Given the description of an element on the screen output the (x, y) to click on. 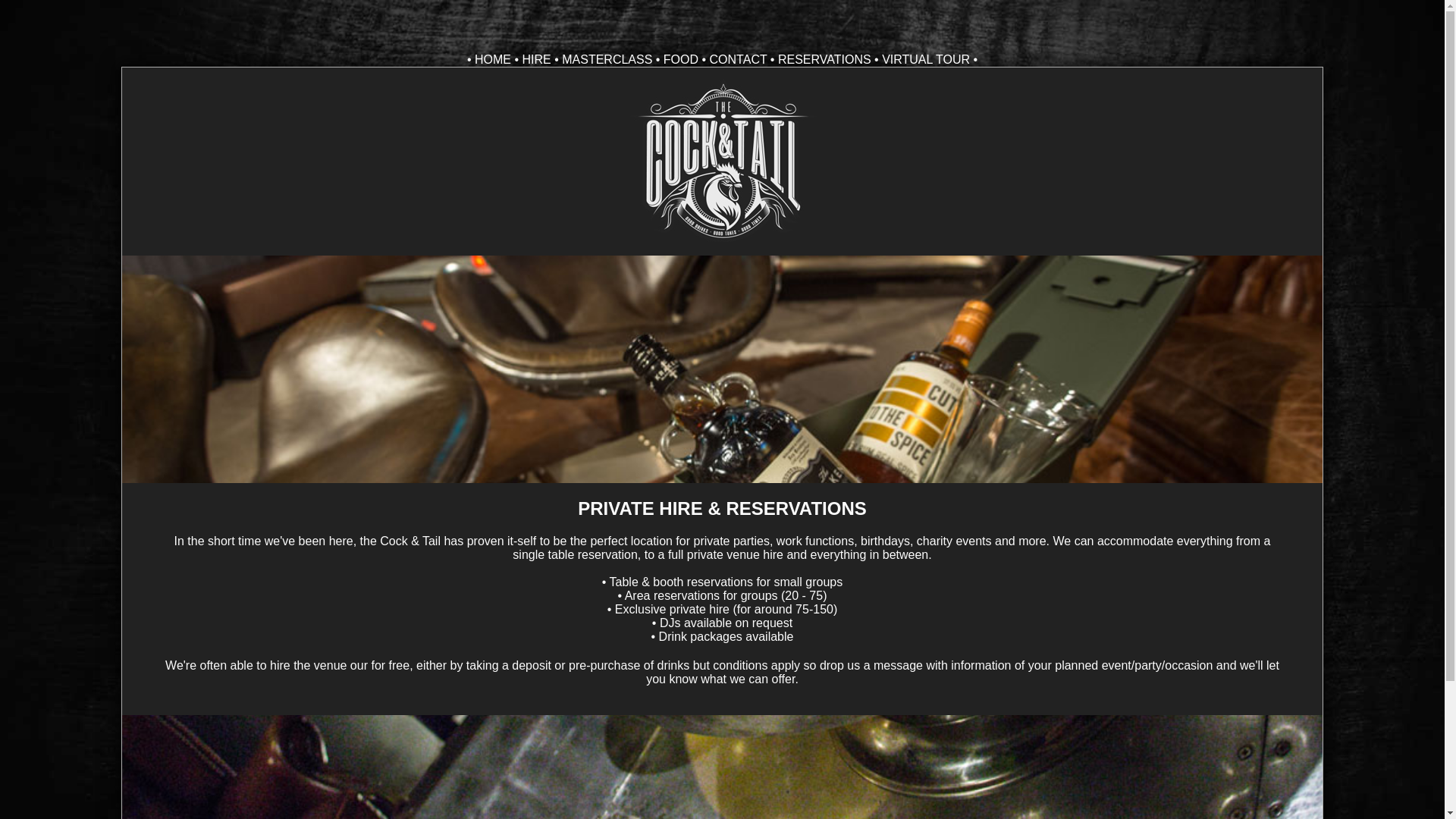
CONTACT (738, 59)
VIRTUAL TOUR (925, 59)
HIRE (535, 59)
FOOD (680, 59)
MASTERCLASS (607, 59)
HOME (492, 59)
RESERVATIONS (823, 59)
